Given the description of an element on the screen output the (x, y) to click on. 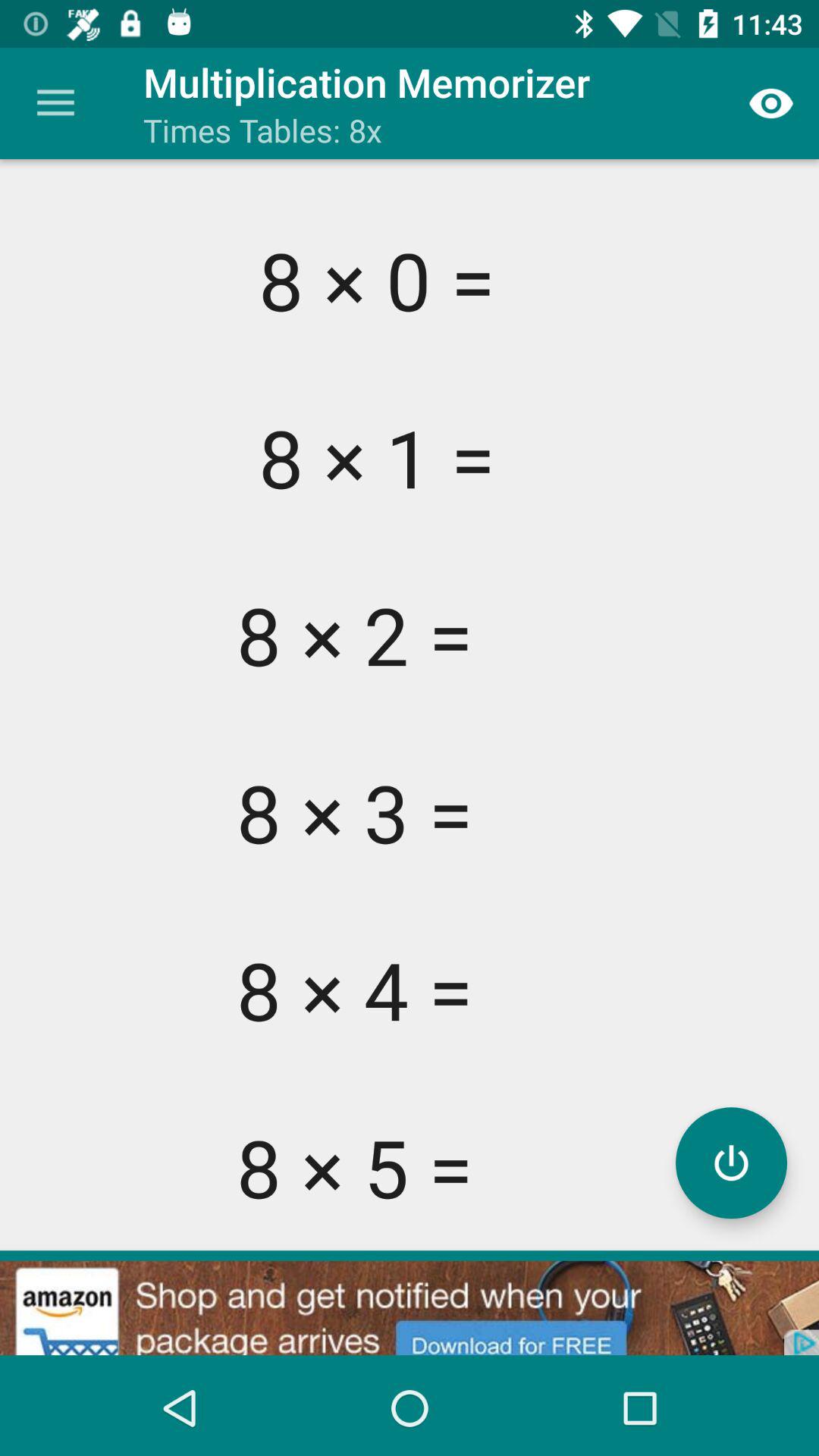
power button (731, 1162)
